Given the description of an element on the screen output the (x, y) to click on. 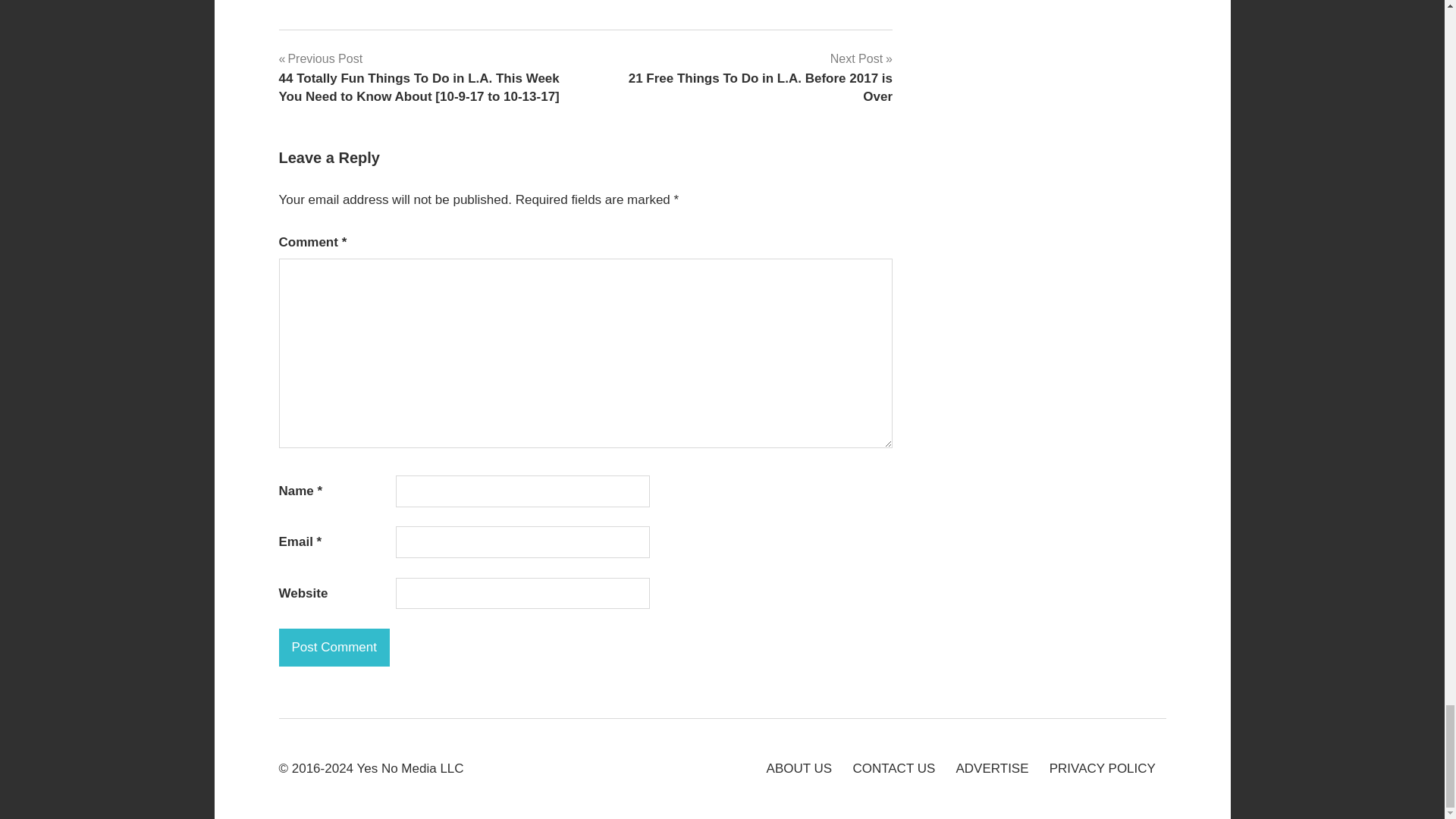
Post Comment (334, 647)
